Given the description of an element on the screen output the (x, y) to click on. 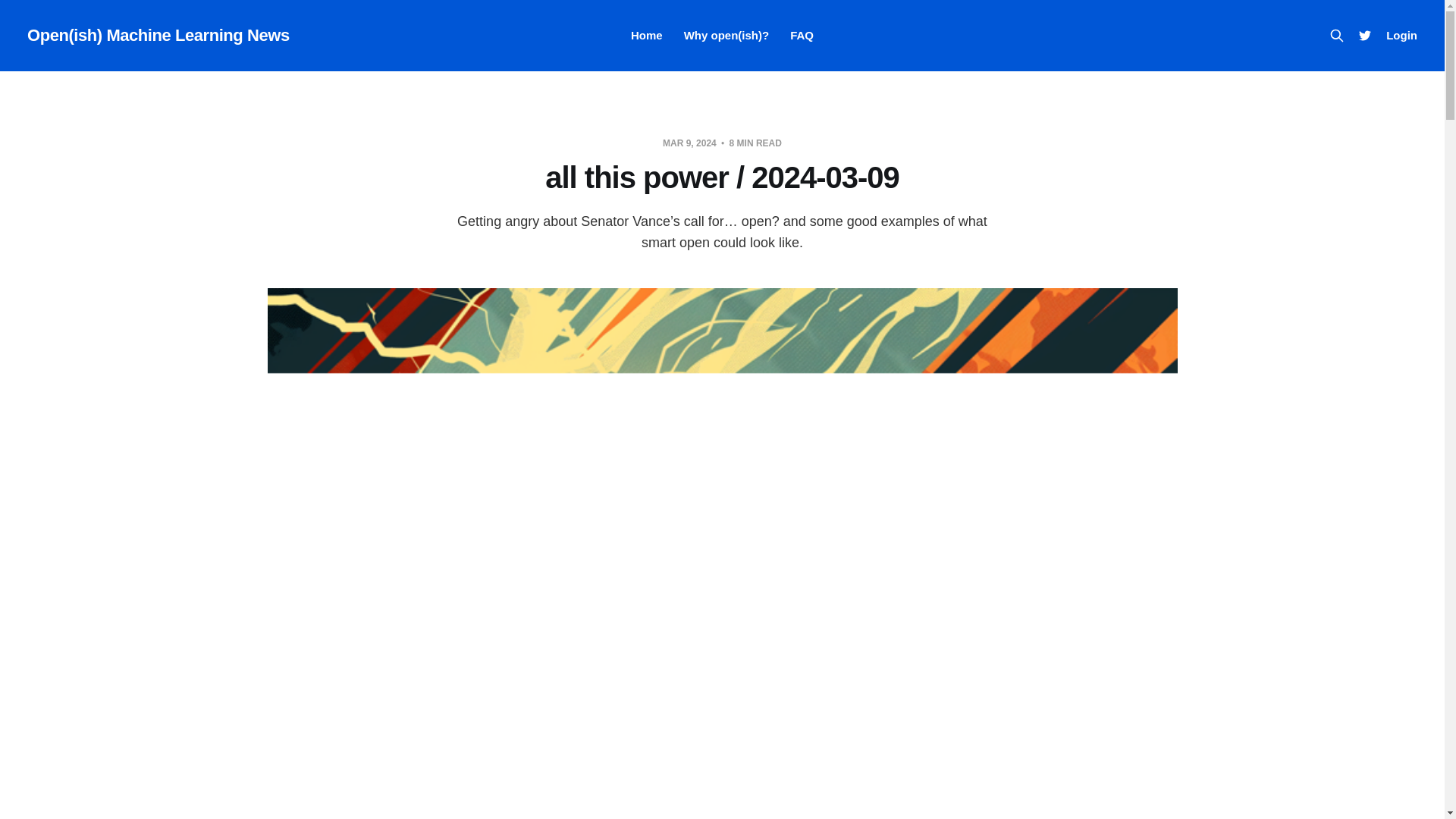
Login (1401, 35)
Home (646, 34)
FAQ (801, 34)
